Given the description of an element on the screen output the (x, y) to click on. 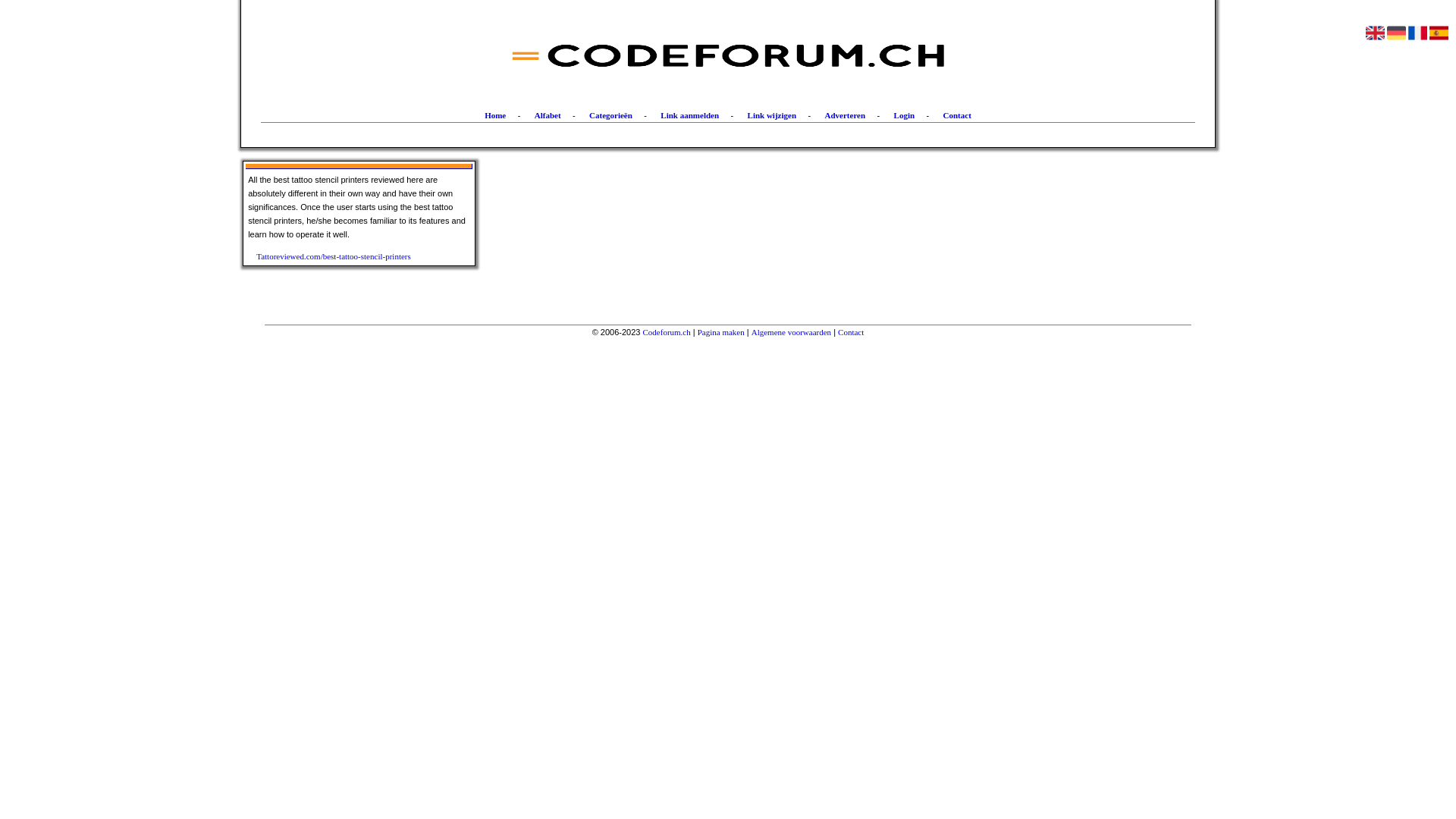
Link wijzigen Element type: text (771, 114)
Contact Element type: text (850, 331)
Alfabet Element type: text (547, 114)
Adverteren Element type: text (845, 114)
Codeforum.ch Element type: text (666, 331)
Contact Element type: text (957, 114)
Home Element type: text (494, 114)
Login Element type: text (904, 114)
Tattoreviewed.com/best-tattoo-stencil-printers Element type: text (343, 256)
Pagina maken Element type: text (720, 331)
Algemene voorwaarden Element type: text (791, 331)
Link aanmelden Element type: text (689, 114)
